Given the description of an element on the screen output the (x, y) to click on. 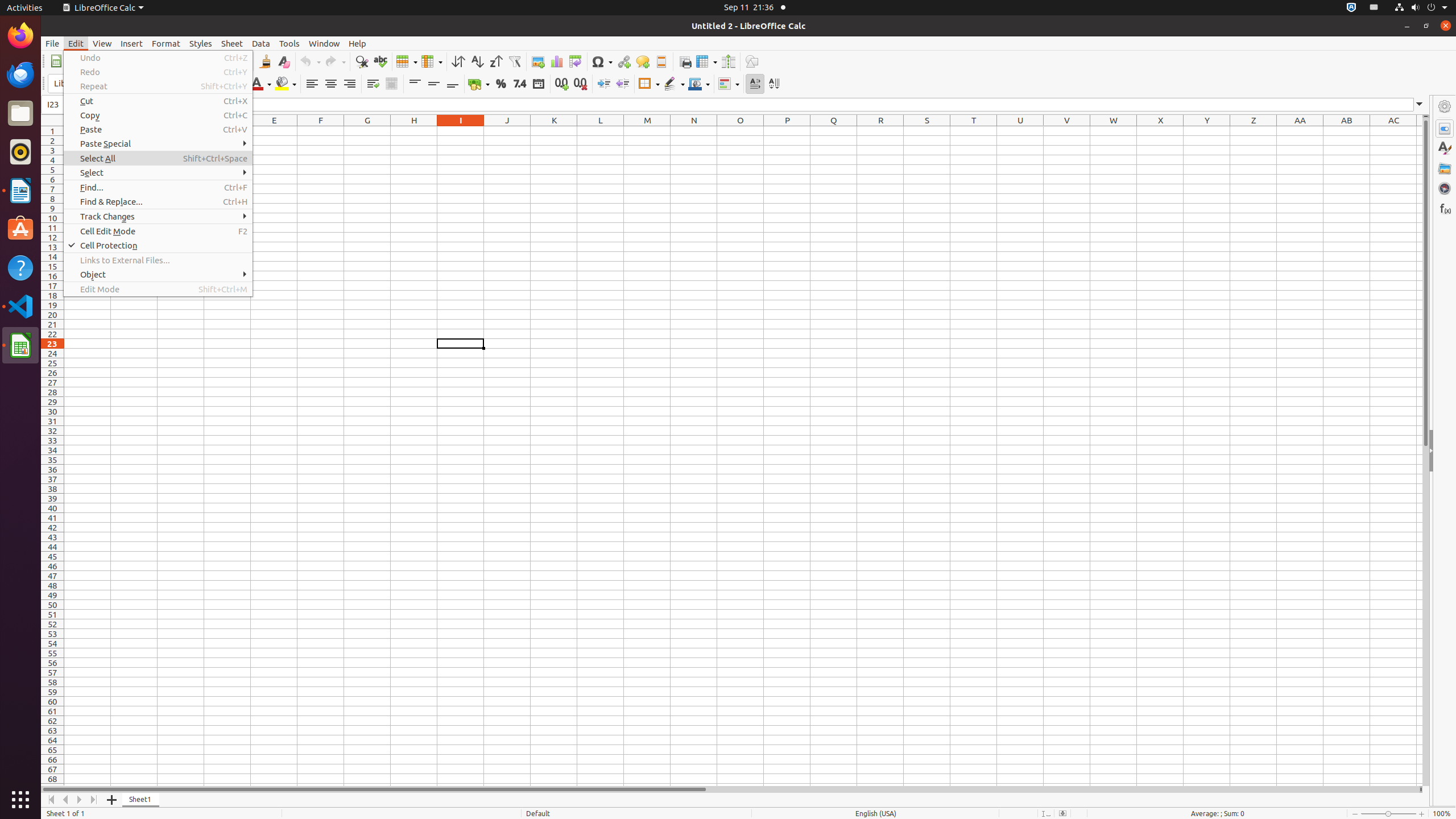
Comment Element type: push-button (642, 61)
Format Element type: menu (165, 43)
Row Element type: push-button (406, 61)
AC1 Element type: table-cell (1393, 130)
AA1 Element type: table-cell (1299, 130)
